Given the description of an element on the screen output the (x, y) to click on. 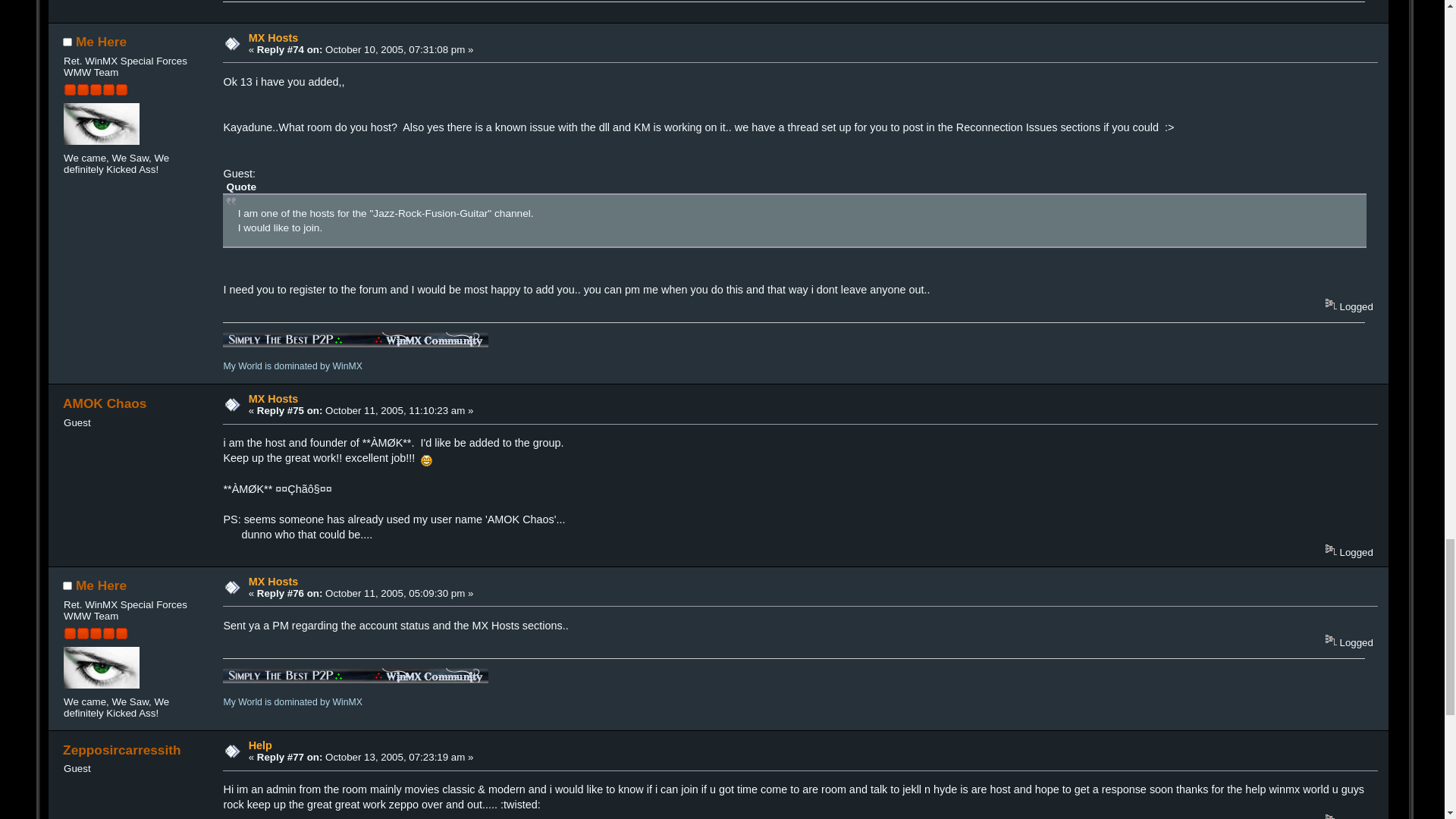
grin (426, 460)
View the profile of Me Here (100, 41)
View the profile of Me Here (100, 585)
